Given the description of an element on the screen output the (x, y) to click on. 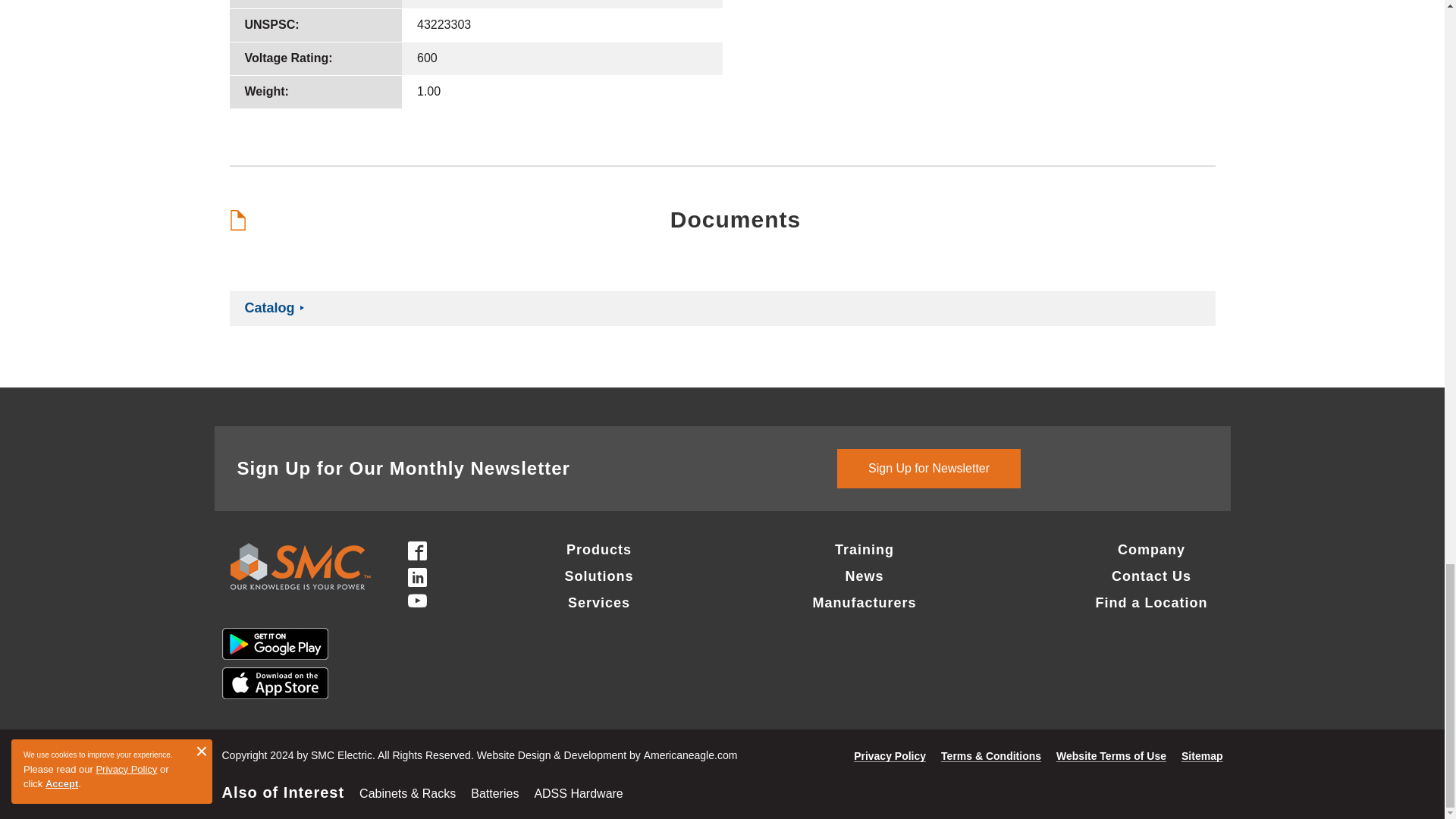
Catalog (269, 307)
